Given the description of an element on the screen output the (x, y) to click on. 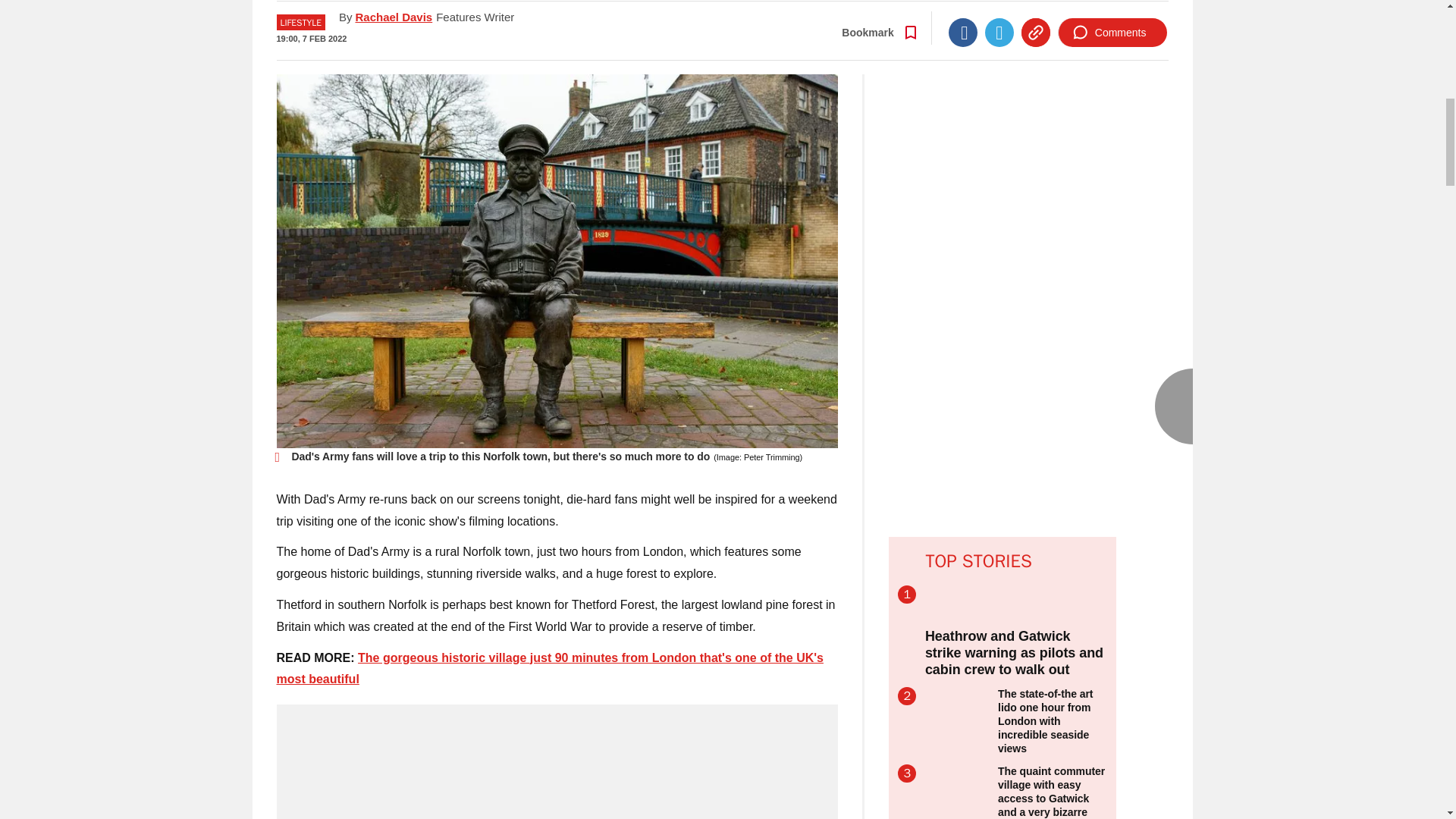
Twitter (999, 28)
Comments (1112, 28)
Facebook (962, 28)
